Given the description of an element on the screen output the (x, y) to click on. 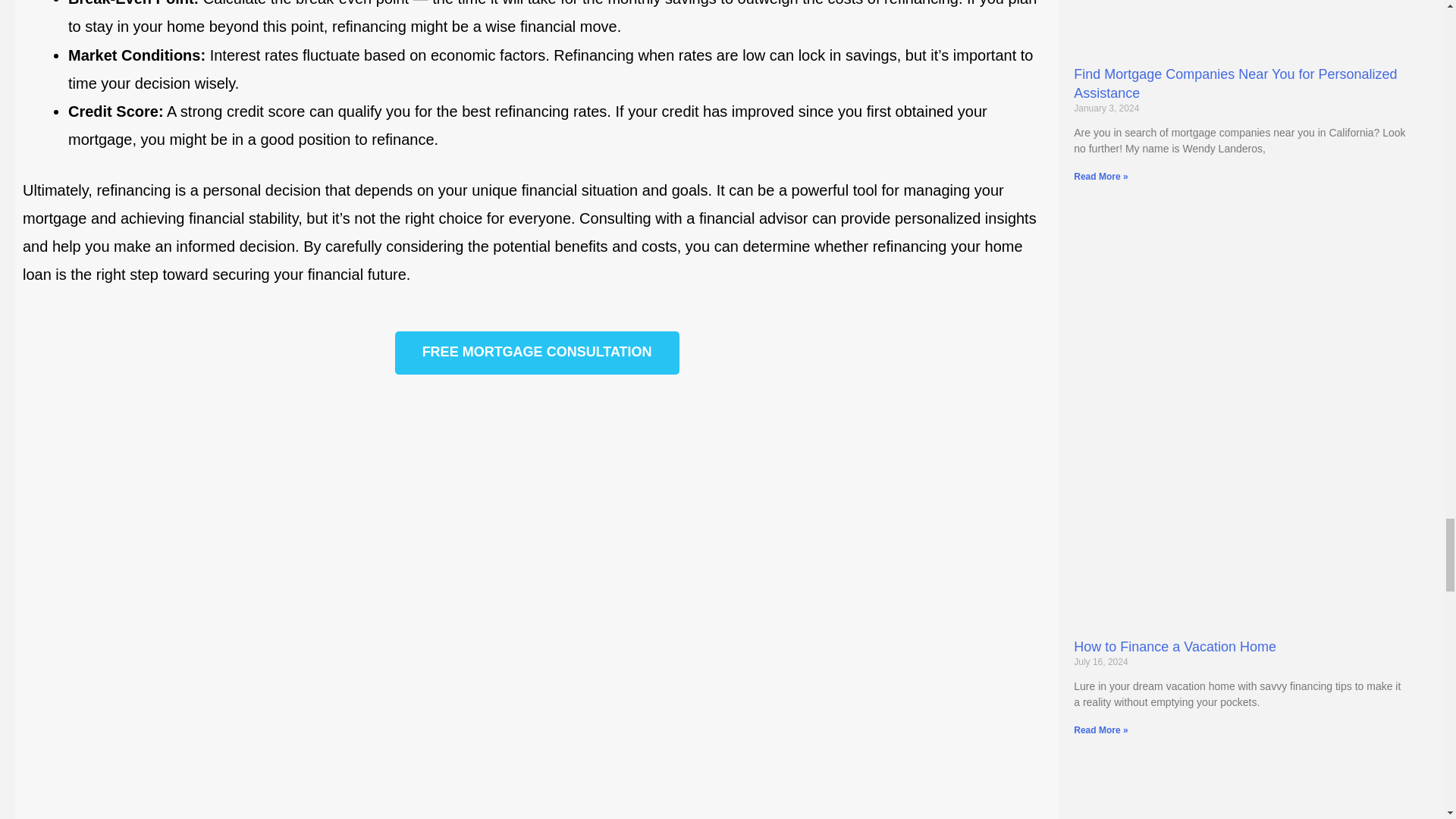
FREE MORTGAGE CONSULTATION (536, 352)
